Given the description of an element on the screen output the (x, y) to click on. 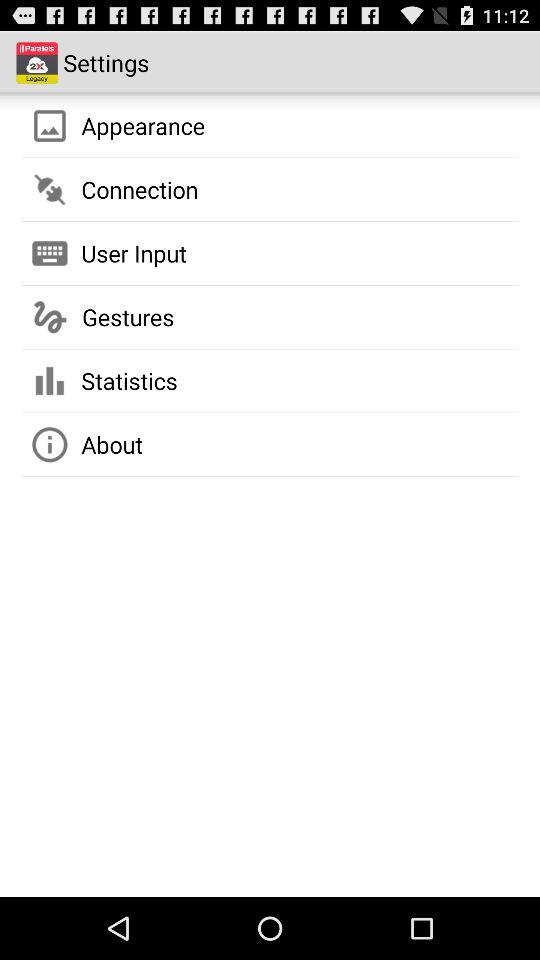
flip to the gestures (128, 317)
